Given the description of an element on the screen output the (x, y) to click on. 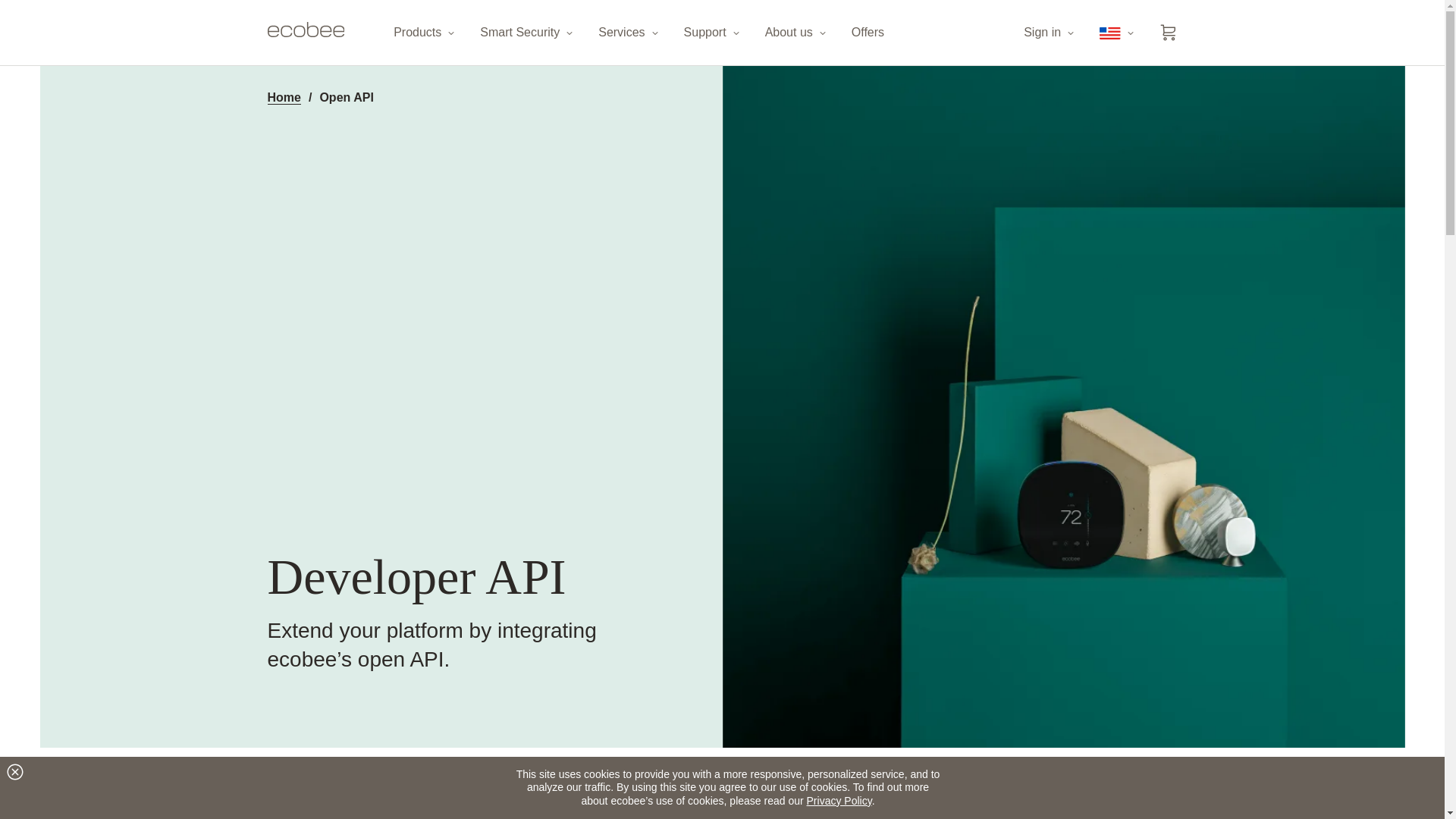
About us (797, 32)
Support (713, 32)
ecobee logo (304, 29)
Smart Security (527, 32)
go to home page (304, 32)
Products (424, 32)
Services (628, 32)
ecobee logo (304, 32)
